Given the description of an element on the screen output the (x, y) to click on. 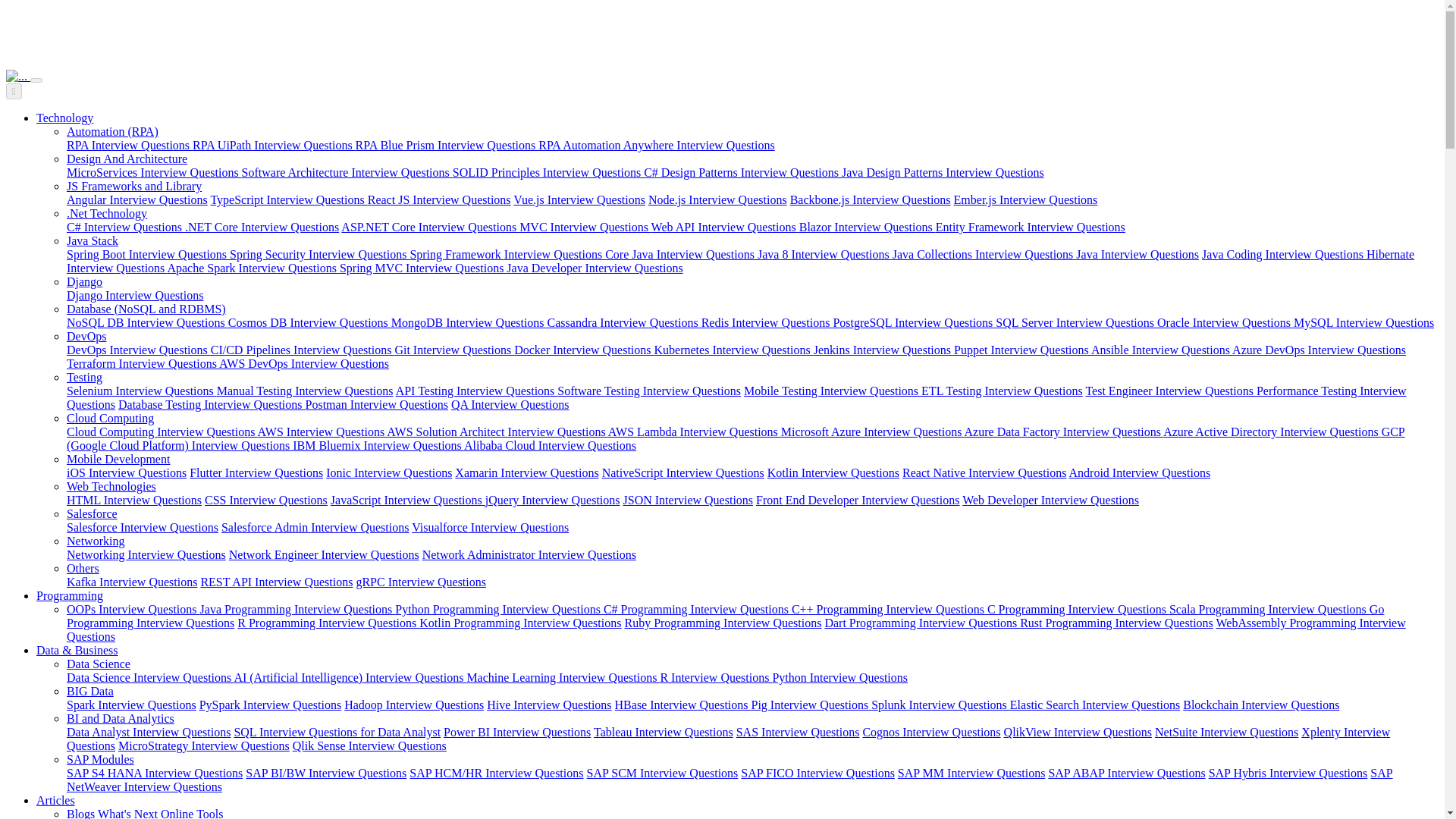
TypeScript Interview Questions (287, 199)
MicroServices Interview Questions (153, 172)
Vue.js Interview Questions (579, 199)
SOLID Principles Interview Questions (547, 172)
Ember.js Interview Questions (1025, 199)
MicroServices Interview Questions (153, 172)
ASP.NET Core Interview Questions (429, 226)
Java Stack (91, 240)
Java Collections Interview Questions (984, 254)
RPA Blue Prism Interview Questions (446, 144)
React JS Interview Questions (439, 199)
Node.js Interview Questions (717, 199)
TypeScript Interview Questions (287, 199)
.Net Core Interview Questions (261, 226)
Java Interview Questions (1136, 254)
